Given the description of an element on the screen output the (x, y) to click on. 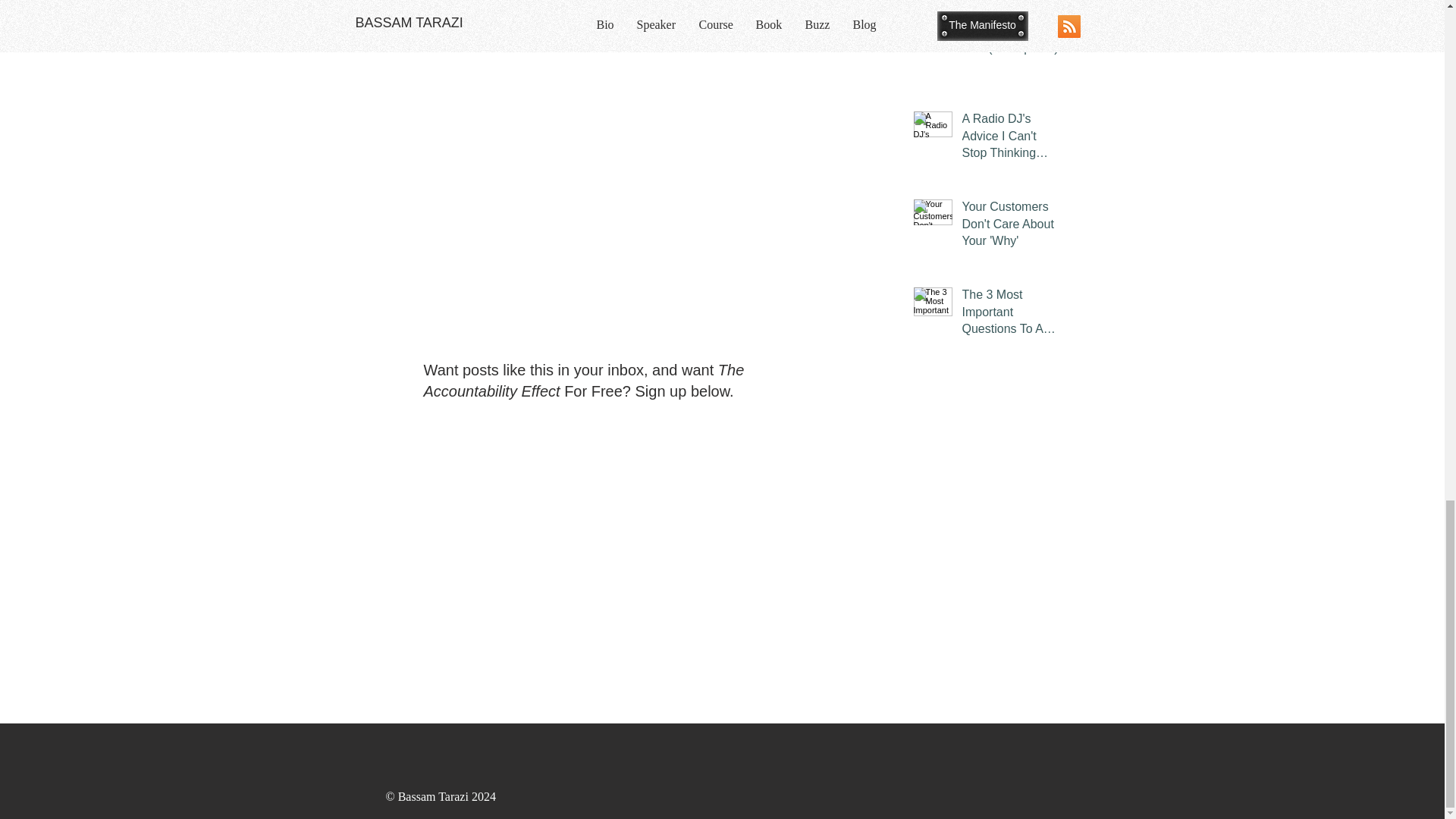
Your Customers Don't Care About Your 'Why' (1010, 227)
A Radio DJ's Advice I Can't Stop Thinking About (1010, 138)
The 3 Most Important Questions To Ask Yourself (1010, 314)
